Given the description of an element on the screen output the (x, y) to click on. 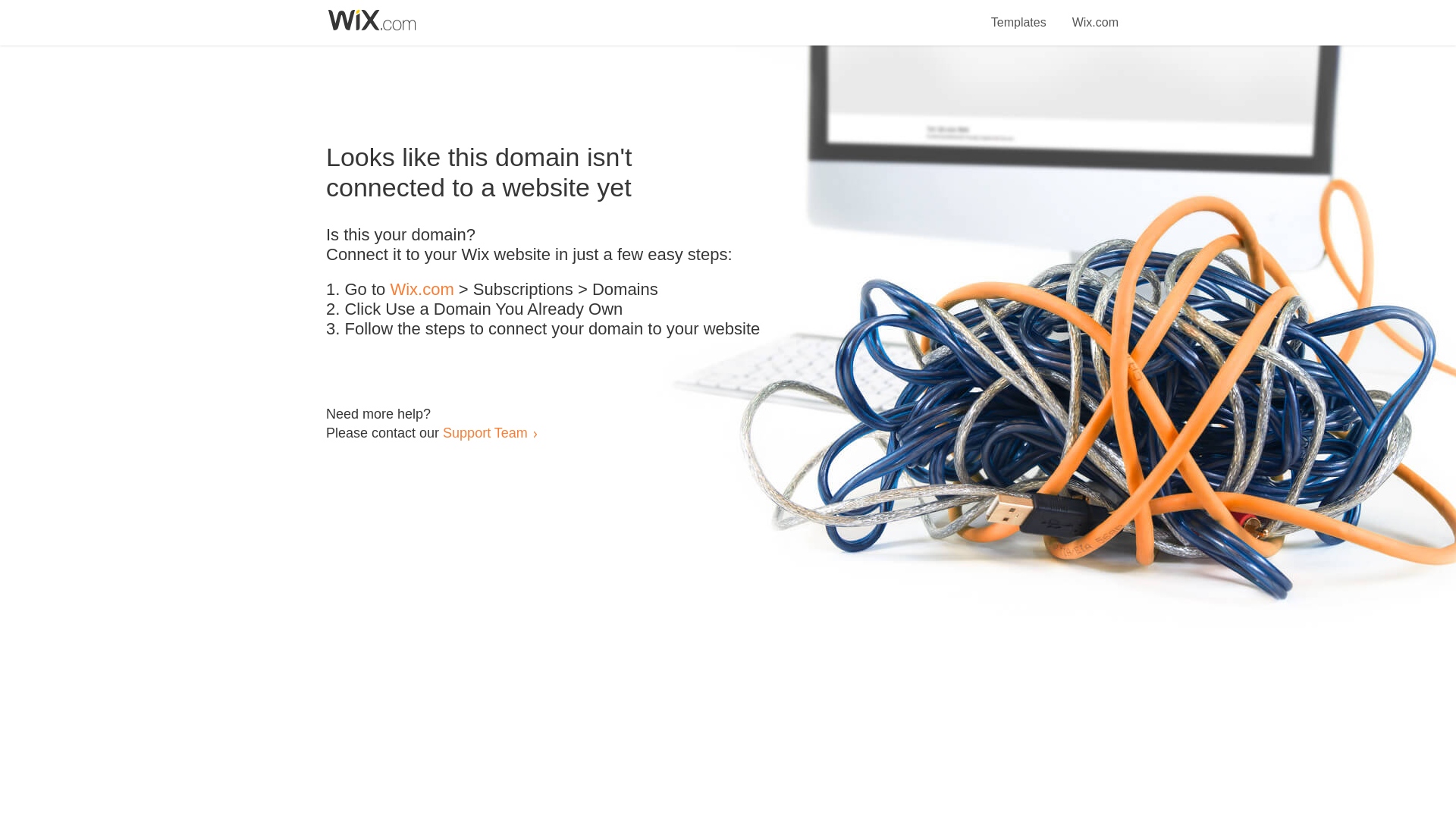
Wix.com (421, 289)
Wix.com (1095, 14)
Support Team (484, 432)
Templates (1018, 14)
